Given the description of an element on the screen output the (x, y) to click on. 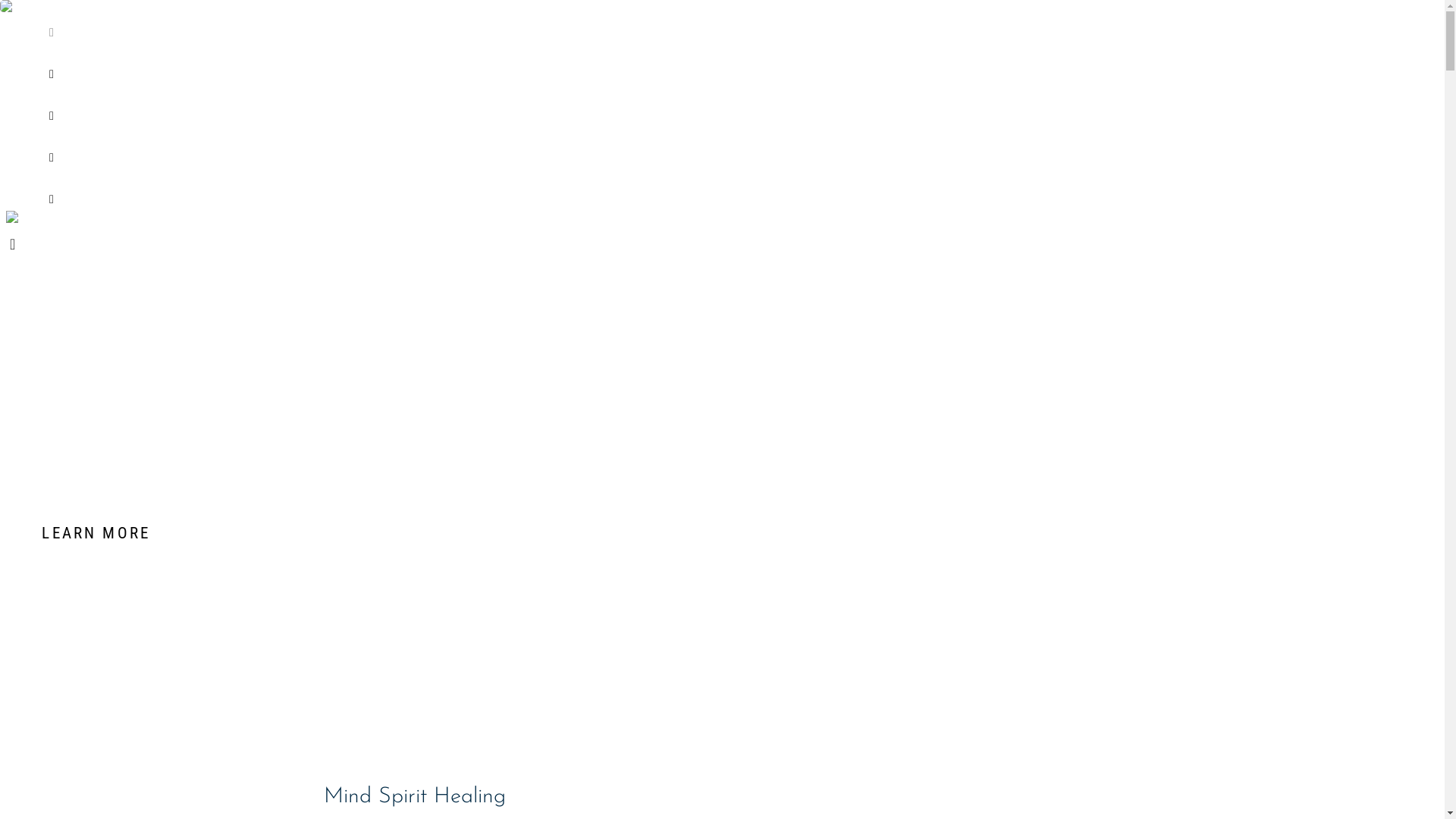
pricing Element type: text (551, 108)
book now Element type: text (551, 191)
news Element type: text (551, 150)
about Element type: text (551, 66)
LEARN MORE Element type: text (722, 533)
home Element type: text (551, 24)
